Given the description of an element on the screen output the (x, y) to click on. 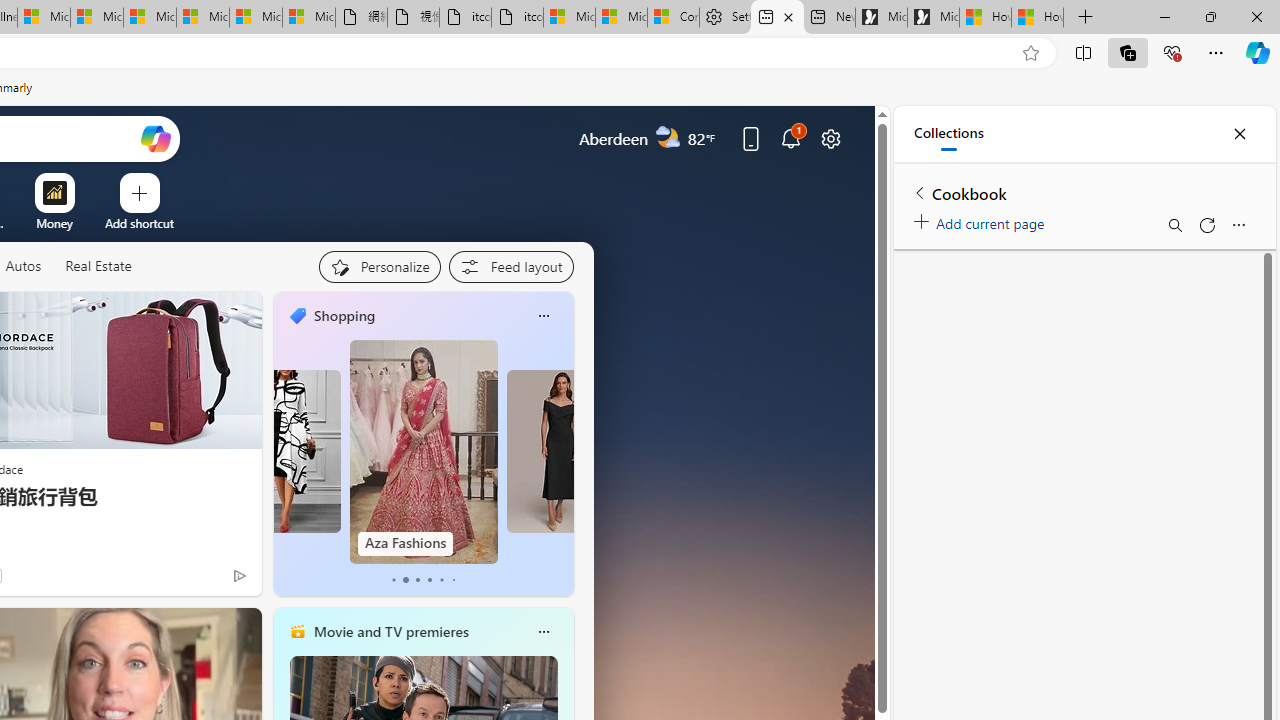
Shopping (344, 315)
tab-1 (405, 579)
Add a site (139, 223)
Partly cloudy (667, 137)
tab-2 (416, 579)
Back to list of collections (920, 192)
Real Estate (98, 265)
Page settings (831, 138)
